Given the description of an element on the screen output the (x, y) to click on. 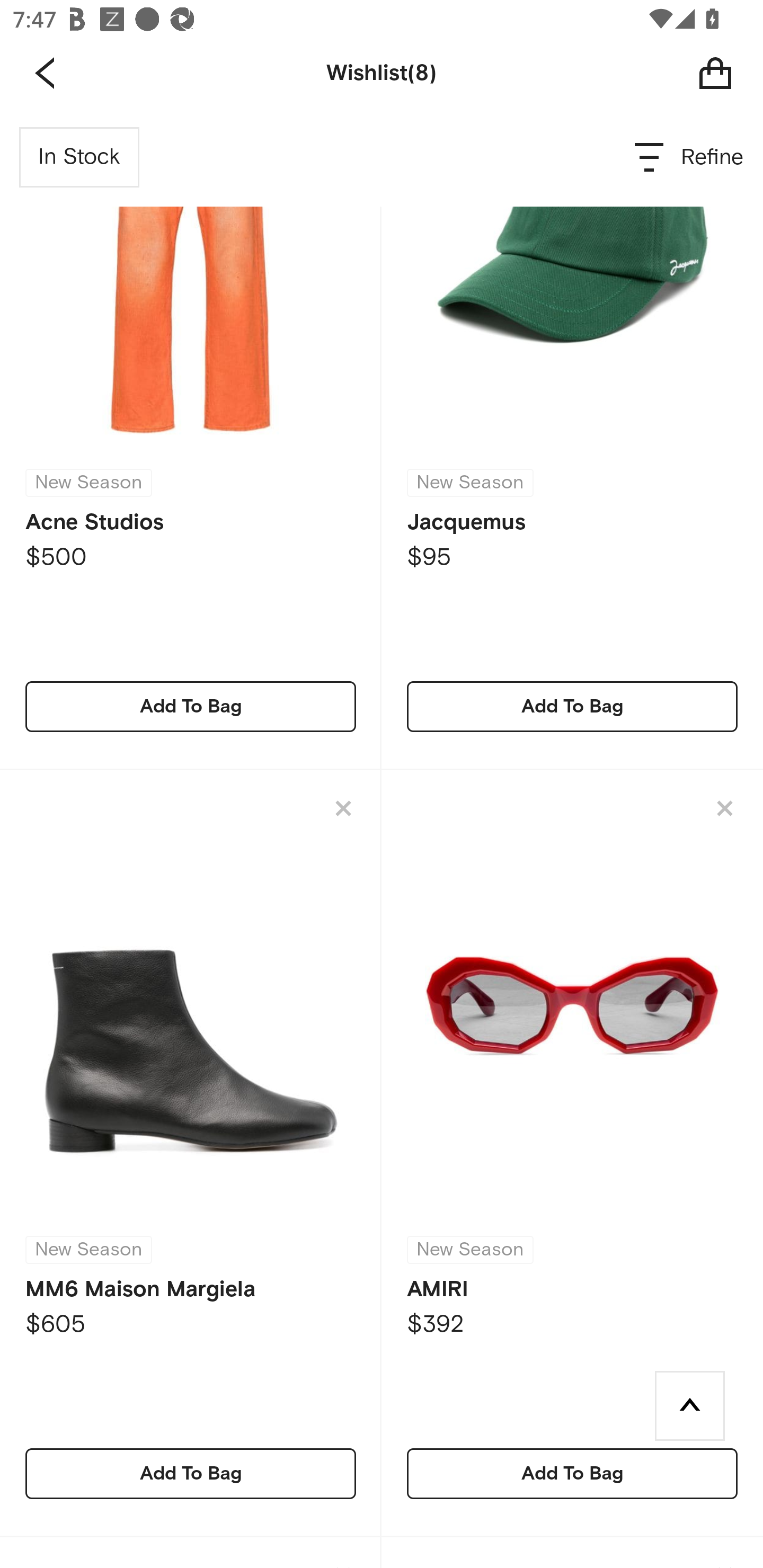
New Season Acne Studios $500 Add To Bag (190, 438)
New Season Jacquemus $95 Add To Bag (572, 438)
In Stock (79, 157)
Refine (690, 157)
Add To Bag (190, 705)
Add To Bag (571, 705)
New Season MM6 Maison Margiela $605 Add To Bag (190, 1152)
New Season AMIRI $392 Add To Bag (572, 1152)
Add To Bag (190, 1473)
Add To Bag (571, 1473)
